Given the description of an element on the screen output the (x, y) to click on. 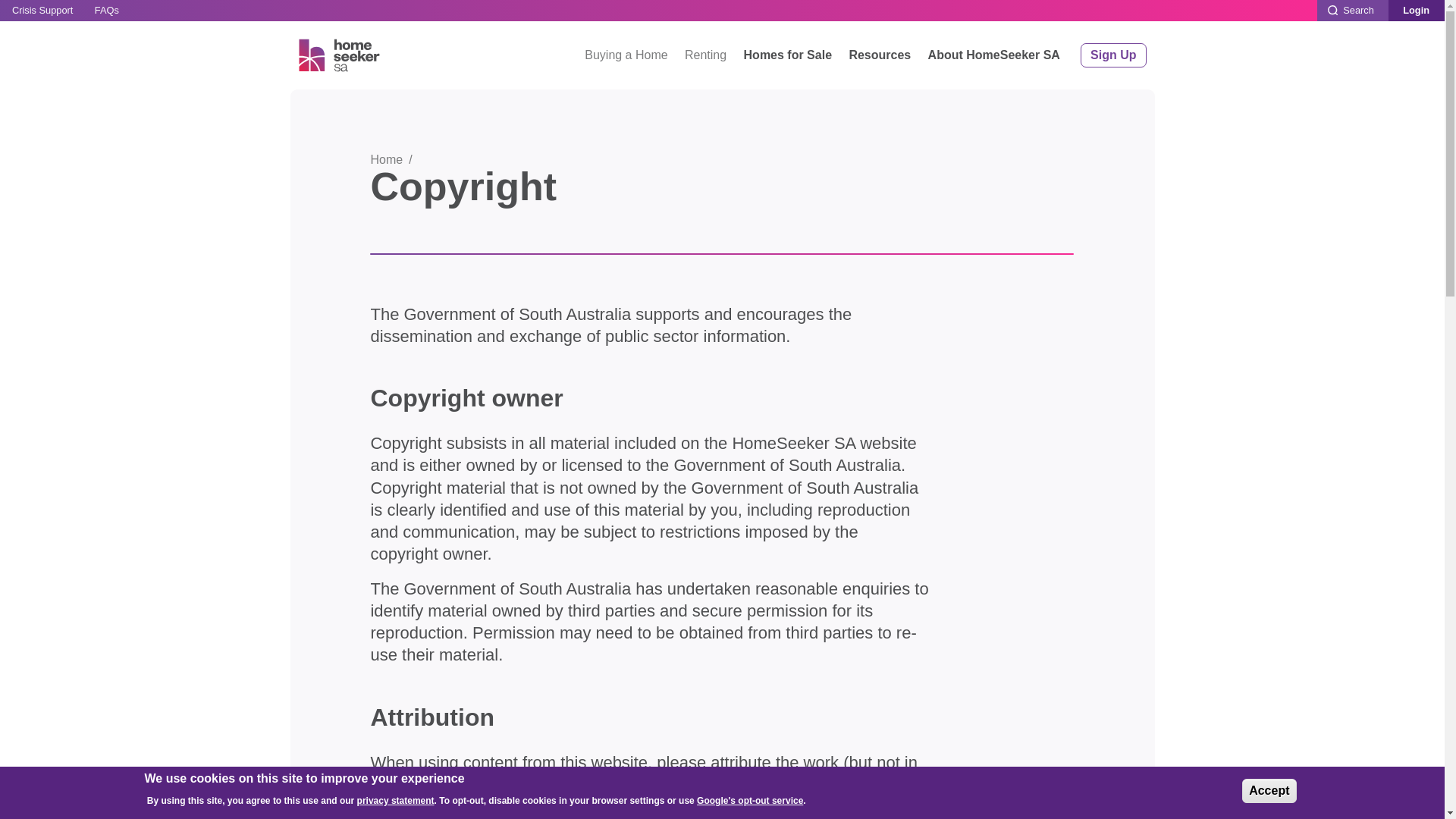
Search (1353, 10)
Crisis Support (41, 10)
Login (1416, 10)
Homes for Sale (787, 54)
Renting (706, 54)
FAQs (106, 10)
Resources (879, 54)
Buying a Home (626, 54)
